Given the description of an element on the screen output the (x, y) to click on. 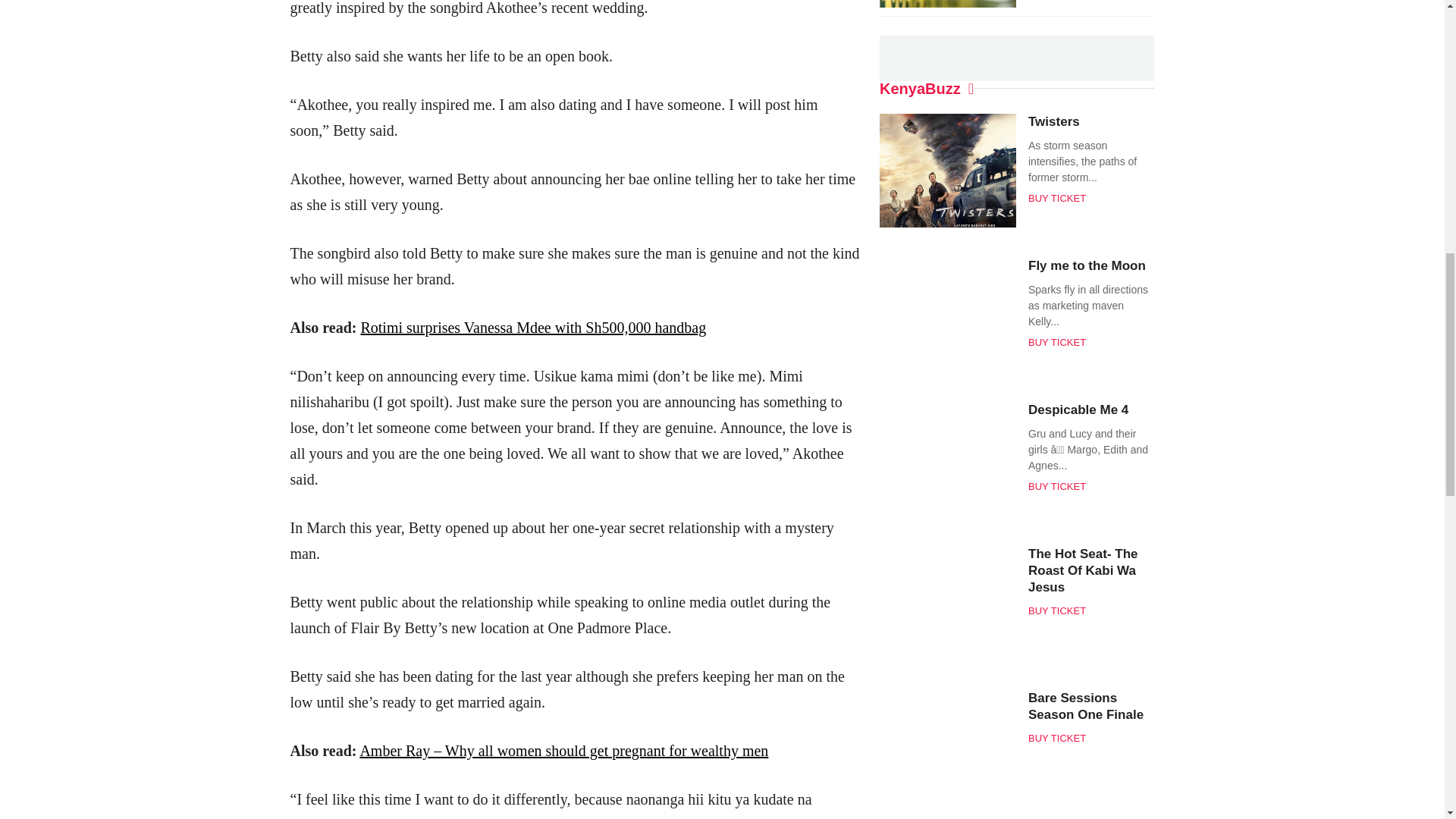
Twitter (708, 49)
Facebook (681, 49)
